Given the description of an element on the screen output the (x, y) to click on. 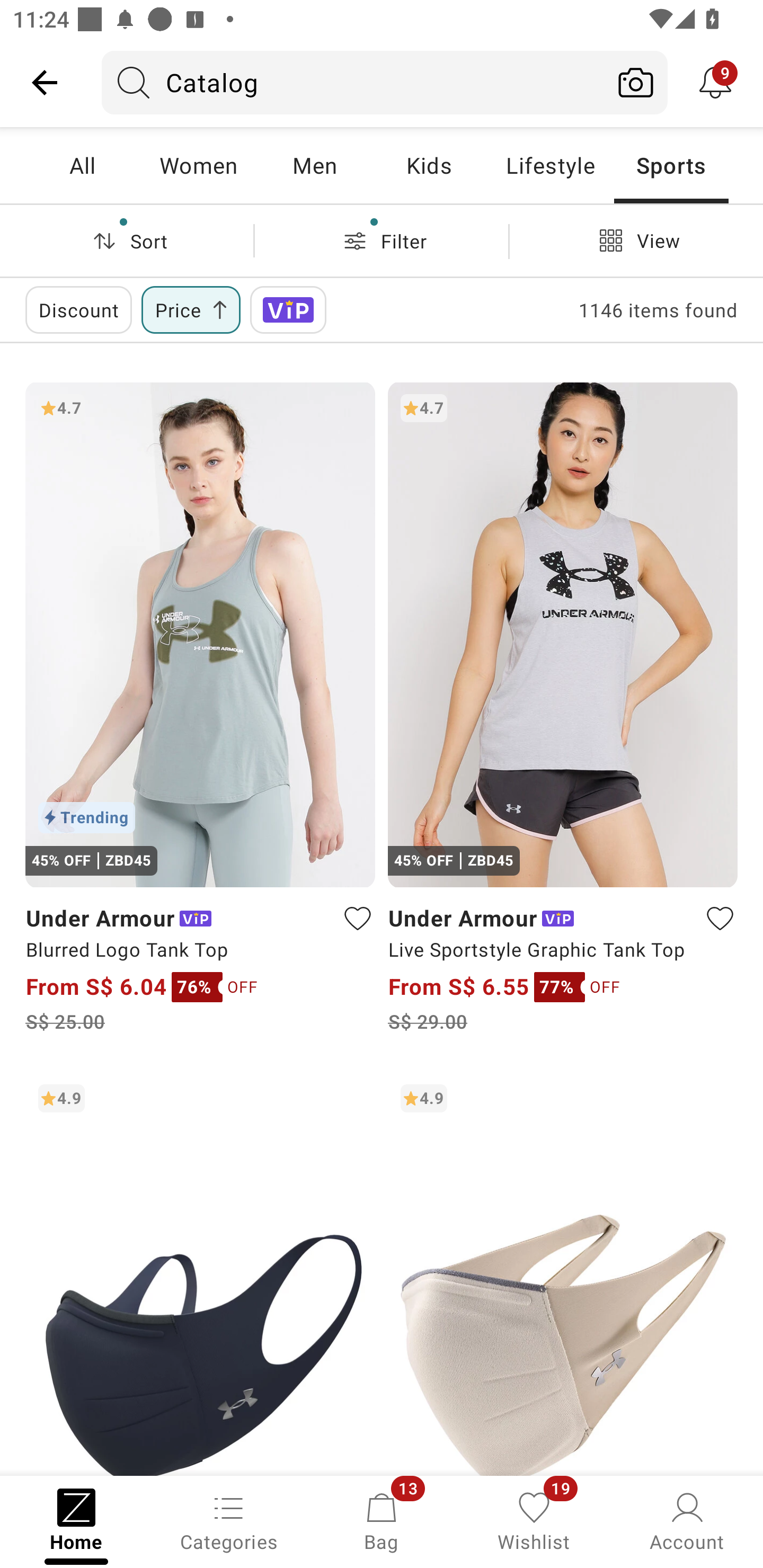
Navigate up (44, 82)
Catalog (352, 82)
All (82, 165)
Women (198, 165)
Men (314, 165)
Kids (428, 165)
Lifestyle (550, 165)
Sort (126, 240)
Filter (381, 240)
View (636, 240)
Discount (78, 309)
Price (190, 309)
4.9 (200, 1272)
4.9 (562, 1272)
Categories (228, 1519)
Bag, 13 new notifications Bag (381, 1519)
Wishlist, 19 new notifications Wishlist (533, 1519)
Account (686, 1519)
